Given the description of an element on the screen output the (x, y) to click on. 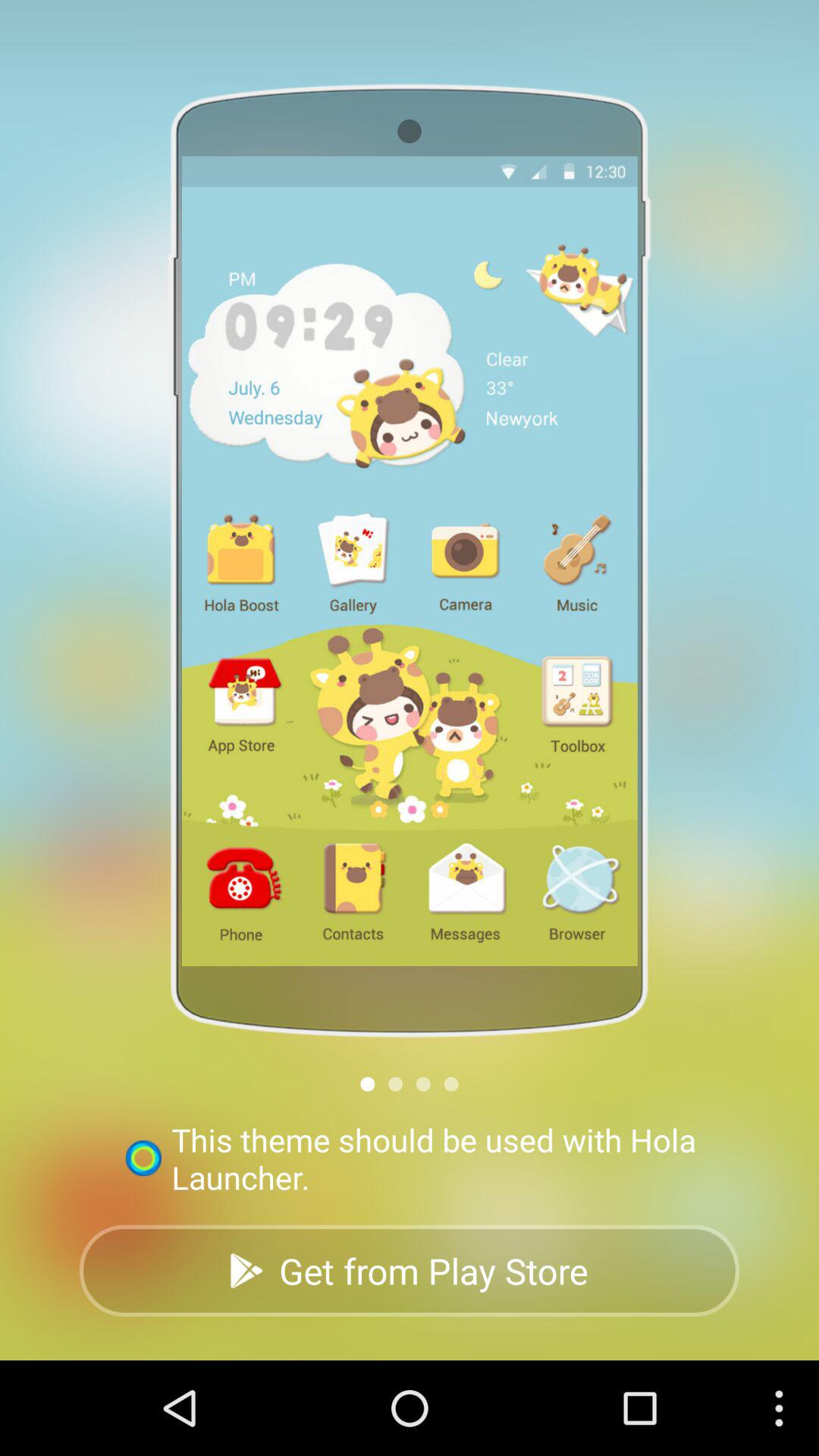
change page (367, 1084)
